Given the description of an element on the screen output the (x, y) to click on. 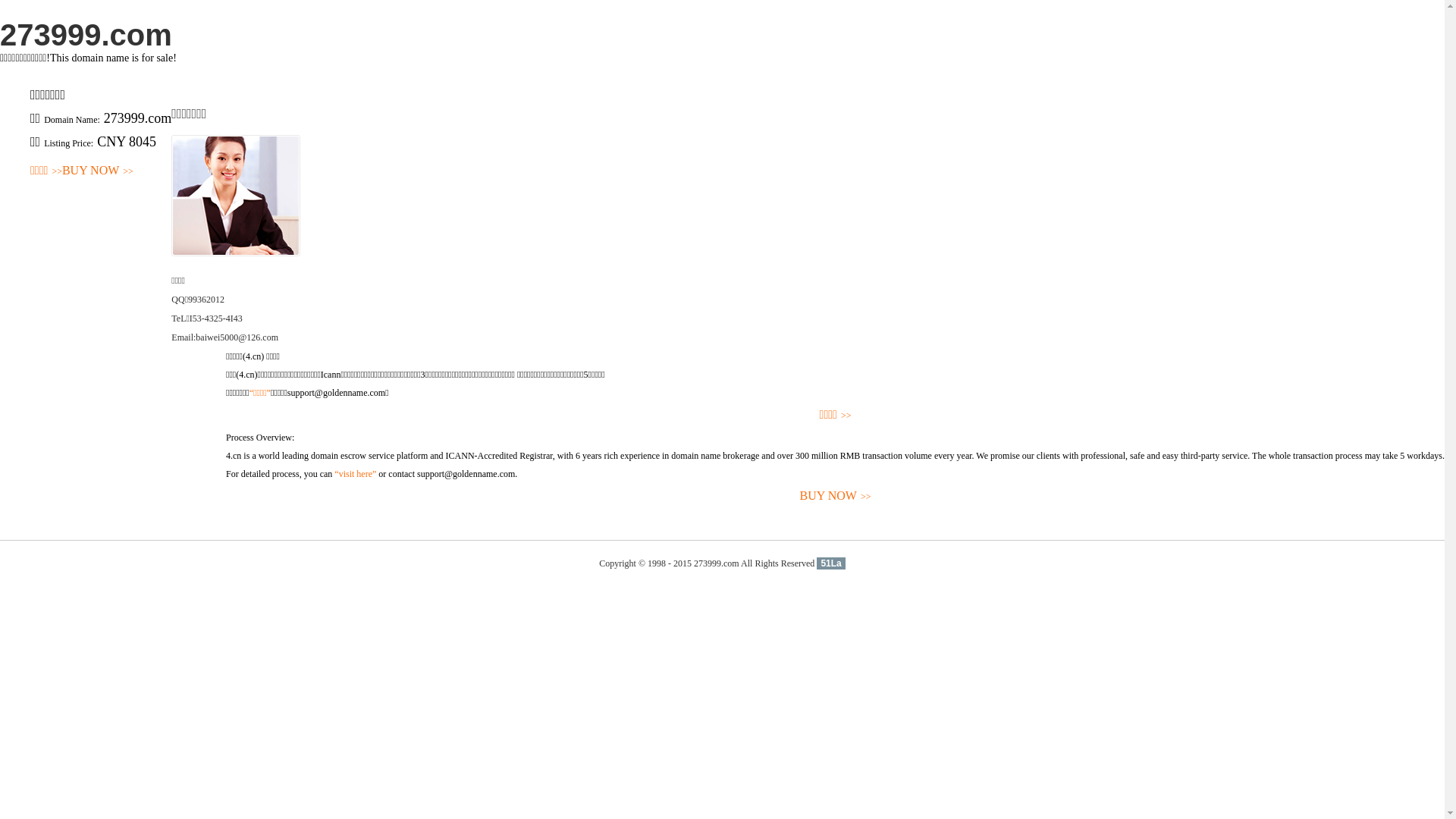
BUY NOW>> Element type: text (97, 170)
51La Element type: text (830, 563)
BUY NOW>> Element type: text (834, 496)
